Given the description of an element on the screen output the (x, y) to click on. 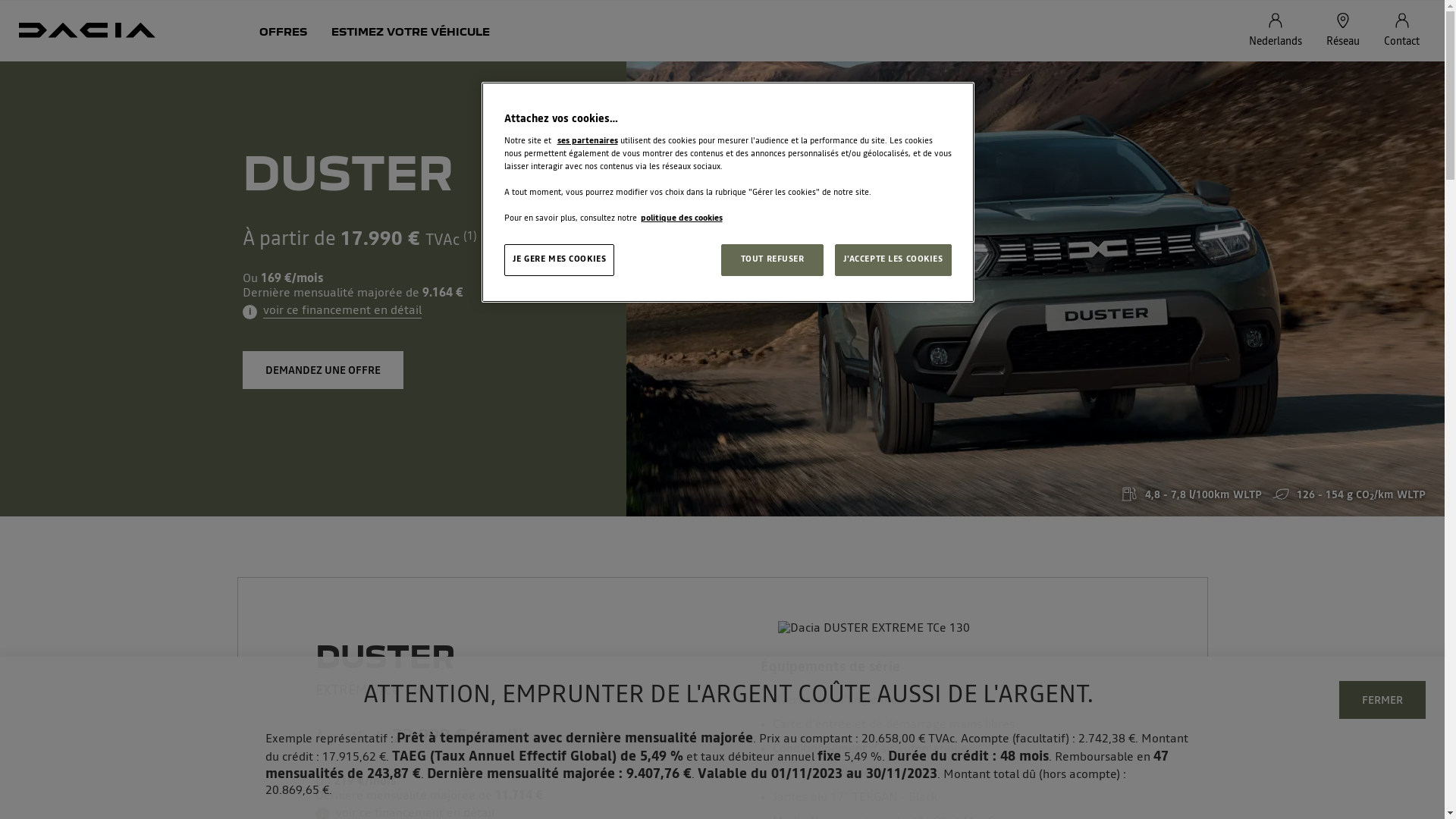
J'ACCEPTE LES COOKIES Element type: text (892, 260)
JE GERE MES COOKIES Element type: text (558, 260)
DEMANDEZ UNE OFFRE Element type: text (322, 370)
(1) Element type: text (515, 737)
ses partenaires Element type: text (586, 140)
Nederlands Element type: text (1275, 30)
OFFRES Element type: text (283, 30)
Contact Element type: text (1401, 30)
politique des cookies Element type: text (680, 217)
(1) Element type: text (469, 239)
TOUT REFUSER Element type: text (772, 260)
